Given the description of an element on the screen output the (x, y) to click on. 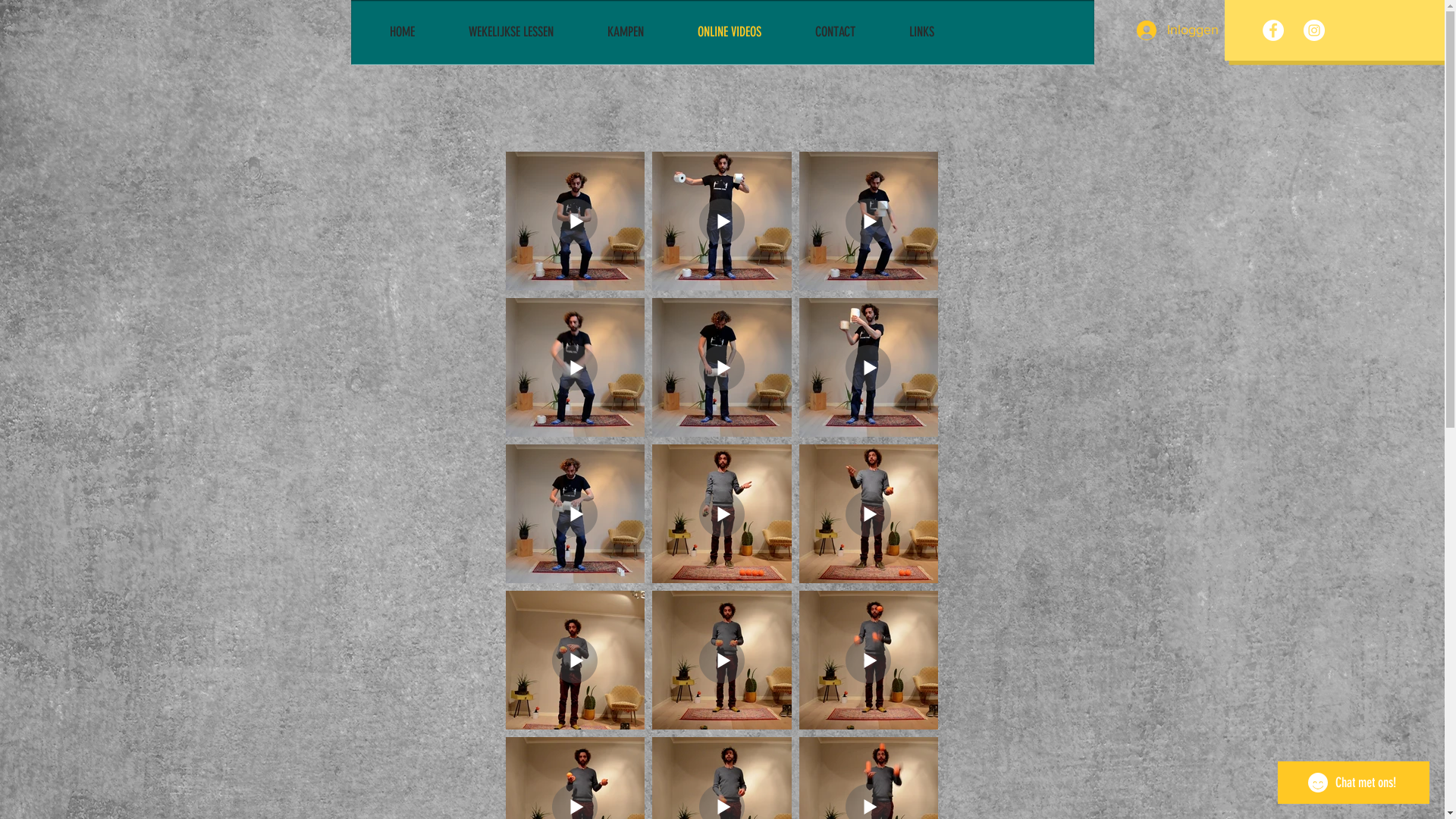
ONLINE VIDEOS Element type: text (744, 31)
HOME Element type: text (417, 31)
KAMPEN Element type: text (641, 31)
WEKELIJKSE LESSEN Element type: text (526, 31)
CONTACT Element type: text (850, 31)
LINKS Element type: text (936, 31)
Inloggen Element type: text (1171, 29)
